Given the description of an element on the screen output the (x, y) to click on. 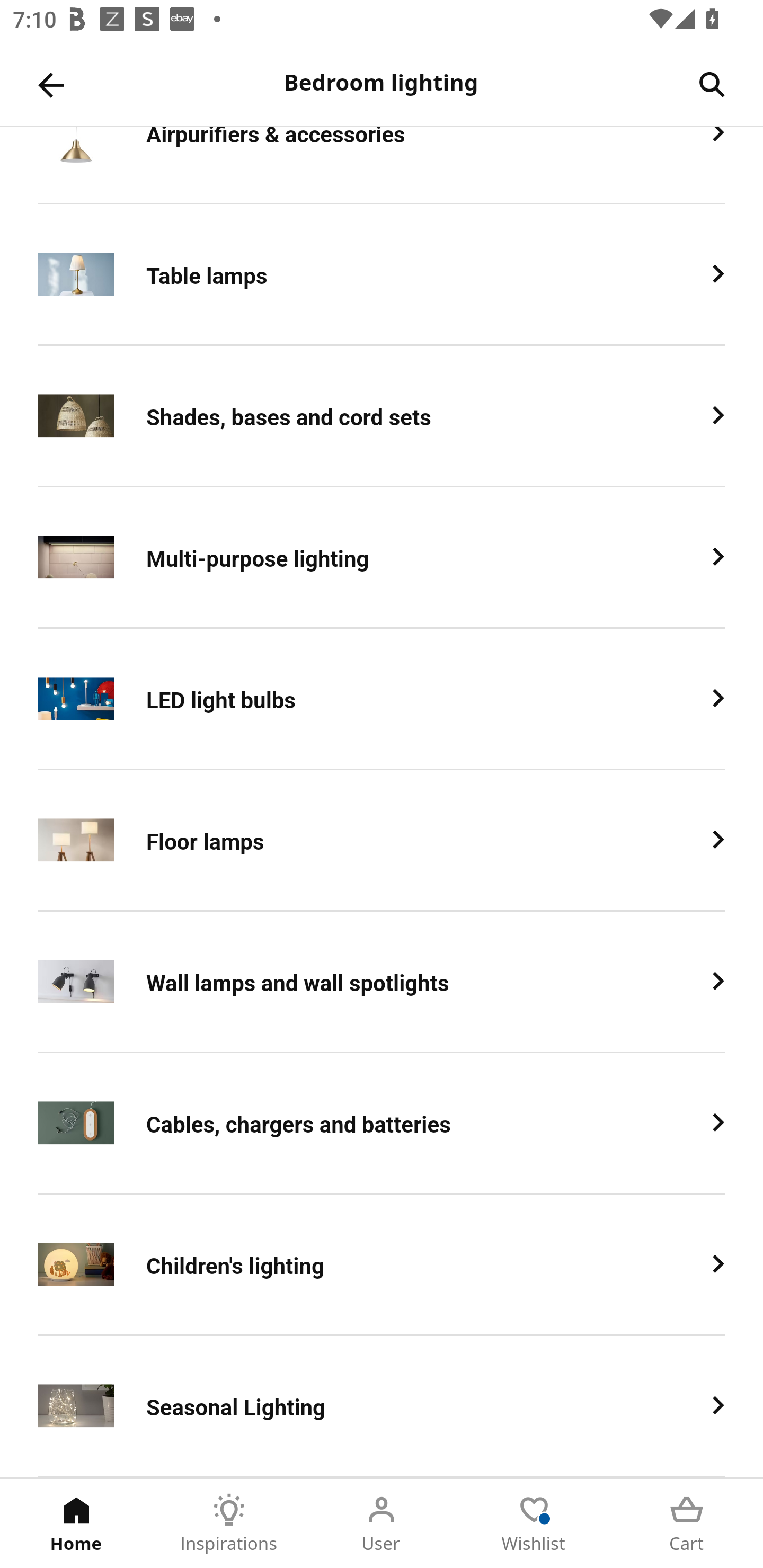
Airpurifiers & accessories (381, 165)
Table lamps (381, 274)
Shades, bases and cord sets (381, 416)
Multi-purpose lighting (381, 557)
LED light bulbs (381, 698)
Floor lamps (381, 840)
Wall lamps and wall spotlights (381, 982)
Cables, chargers and batteries (381, 1123)
Children's lighting (381, 1264)
Seasonal Lighting (381, 1406)
Home
Tab 1 of 5 (76, 1522)
Inspirations
Tab 2 of 5 (228, 1522)
User
Tab 3 of 5 (381, 1522)
Wishlist
Tab 4 of 5 (533, 1522)
Cart
Tab 5 of 5 (686, 1522)
